Given the description of an element on the screen output the (x, y) to click on. 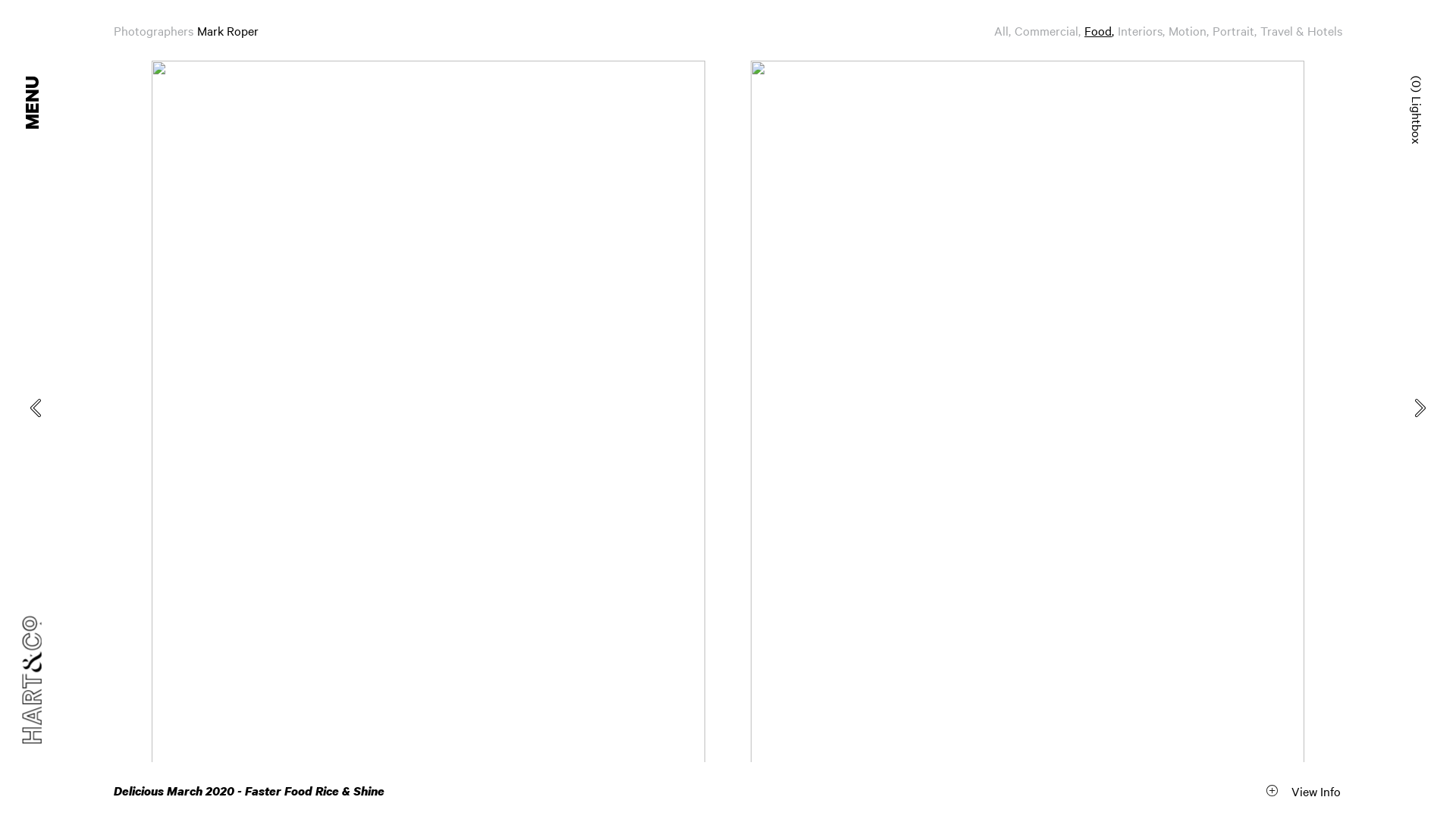
Photographers Element type: text (153, 29)
Interiors Element type: text (1142, 29)
Commercial Element type: text (1049, 29)
View Info Element type: text (1301, 790)
Travel & Hotels Element type: text (1301, 29)
Motion Element type: text (1190, 29)
Food Element type: text (1100, 29)
Mark Roper Element type: text (227, 29)
MENU Element type: text (53, 76)
Portrait Element type: text (1236, 29)
(0)Lightbox Element type: text (1391, 83)
All Element type: text (1004, 29)
